Given the description of an element on the screen output the (x, y) to click on. 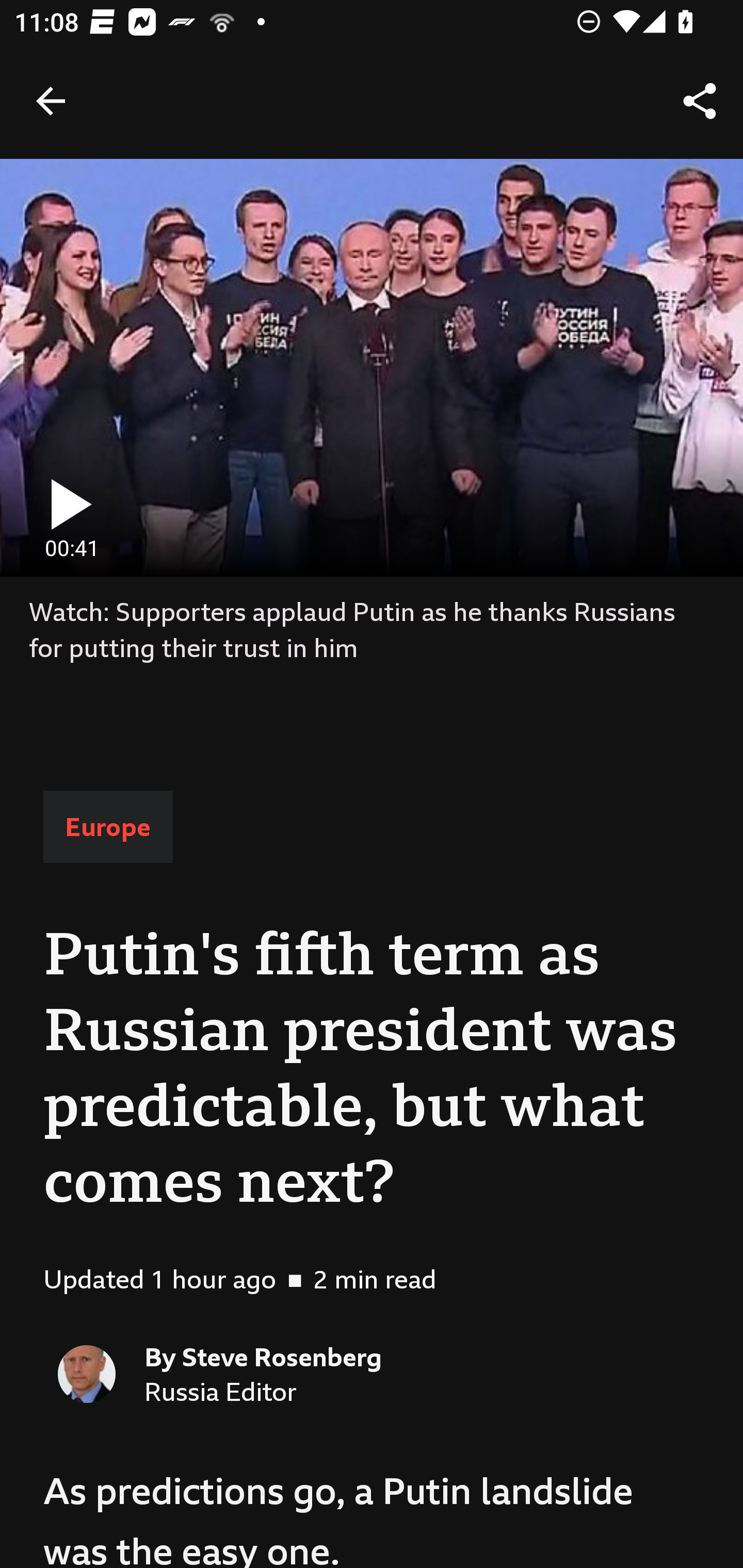
Back (50, 101)
Share (699, 101)
play fullscreen 00:41 0 minutes, 41 seconds (371, 367)
Europe (108, 827)
